Given the description of an element on the screen output the (x, y) to click on. 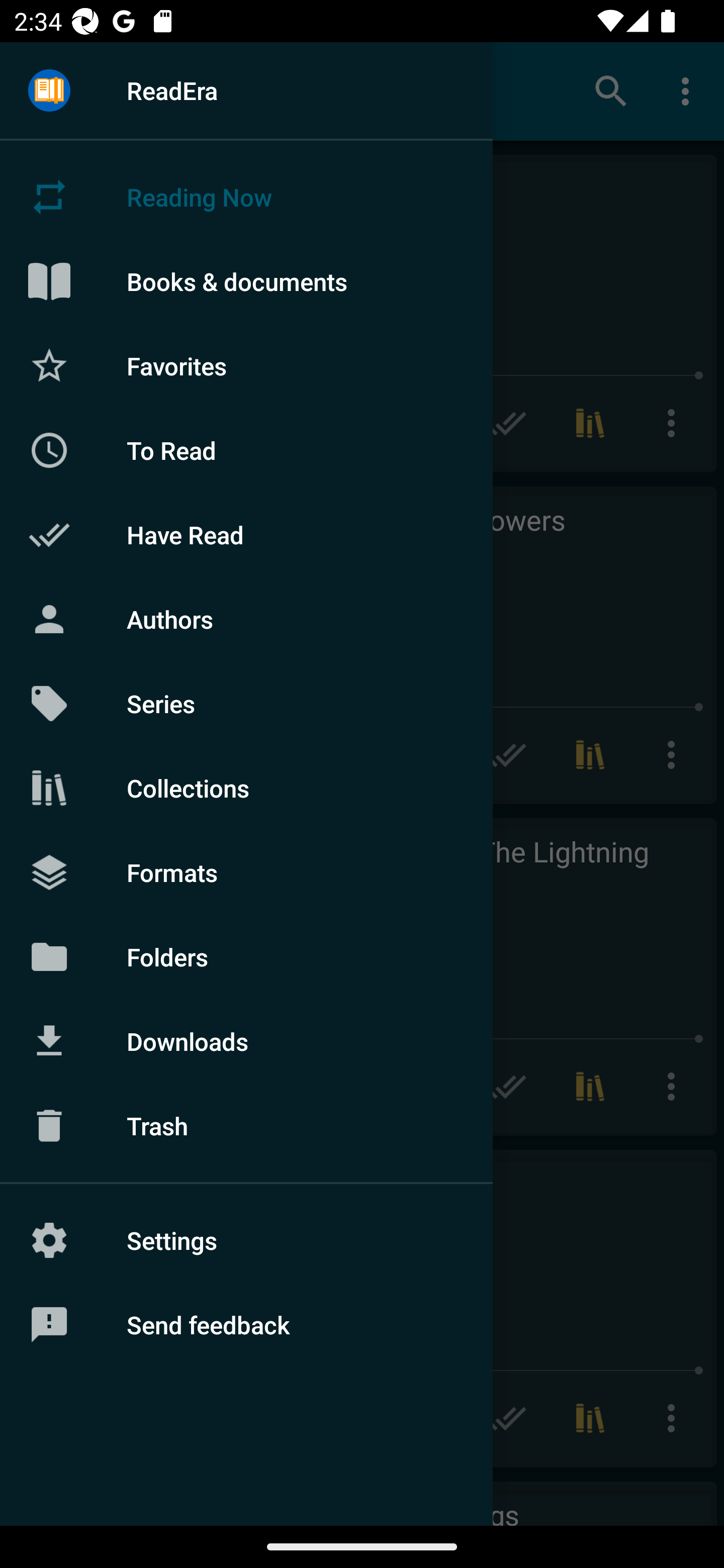
Menu (49, 91)
ReadEra (246, 89)
Search books & documents (611, 90)
More options (688, 90)
Reading Now (246, 197)
Books & documents (246, 281)
Favorites (246, 365)
To Read (246, 449)
Have Read (246, 534)
Authors (246, 619)
Series (246, 703)
Collections (246, 787)
Formats (246, 871)
Folders (246, 956)
Downloads (246, 1040)
Trash (246, 1125)
Settings (246, 1239)
Send feedback (246, 1324)
